Given the description of an element on the screen output the (x, y) to click on. 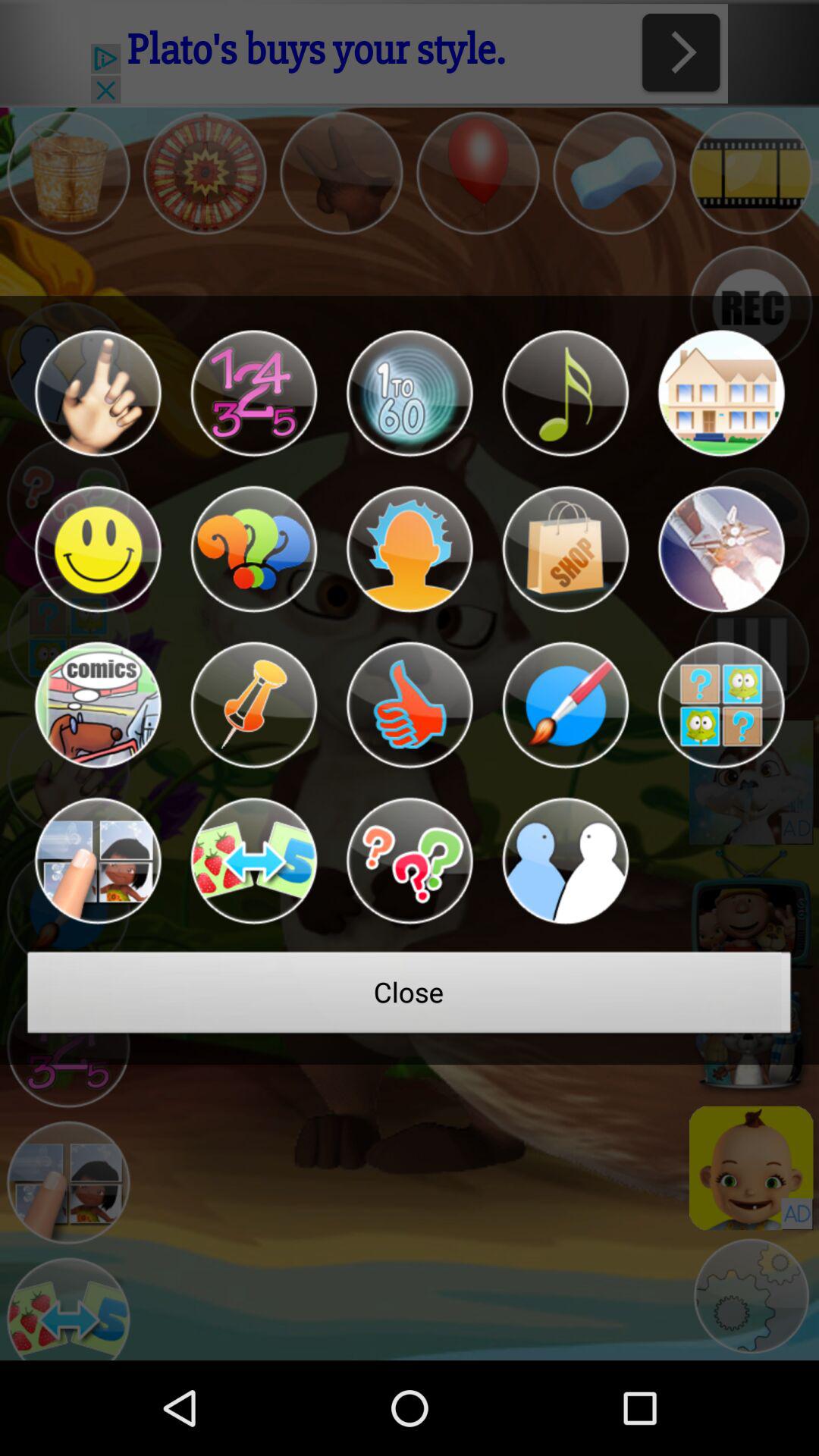
scene option (721, 549)
